Given the description of an element on the screen output the (x, y) to click on. 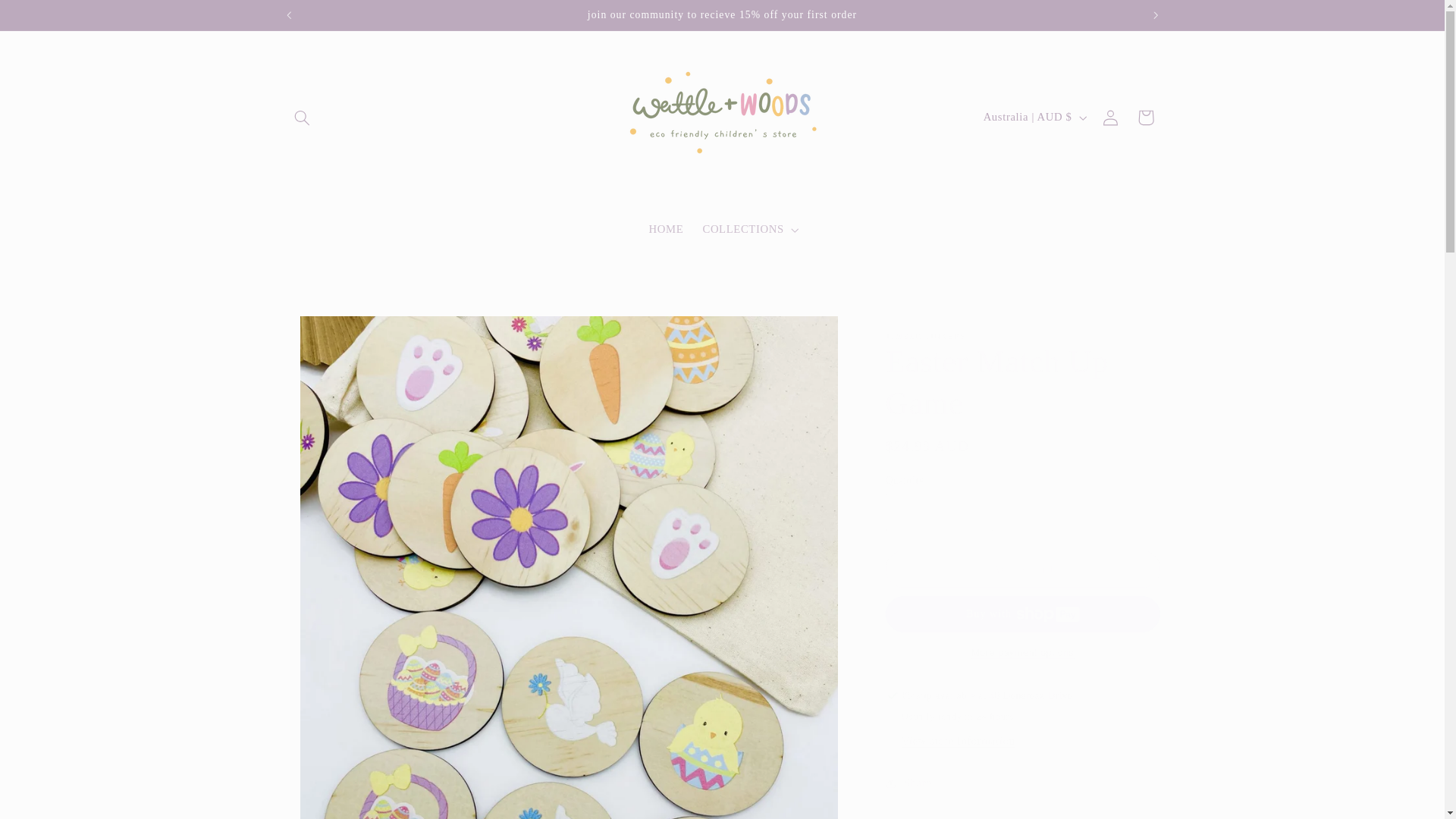
Skip to content (48, 18)
1 (939, 511)
HOME (666, 229)
